Given the description of an element on the screen output the (x, y) to click on. 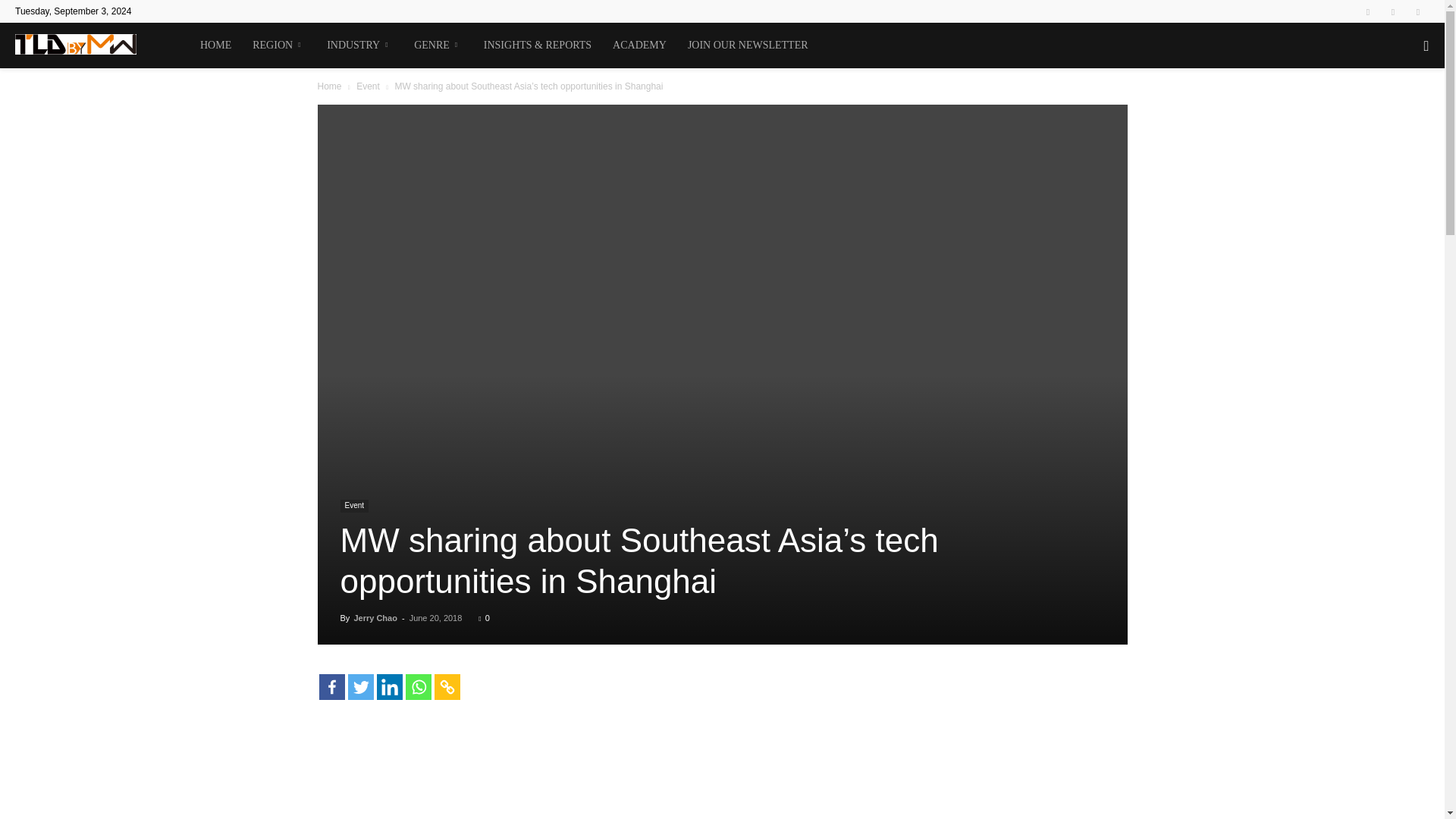
Twitter (1417, 11)
The low down (75, 44)
Facebook (1367, 11)
Linkedin (1393, 11)
